Given the description of an element on the screen output the (x, y) to click on. 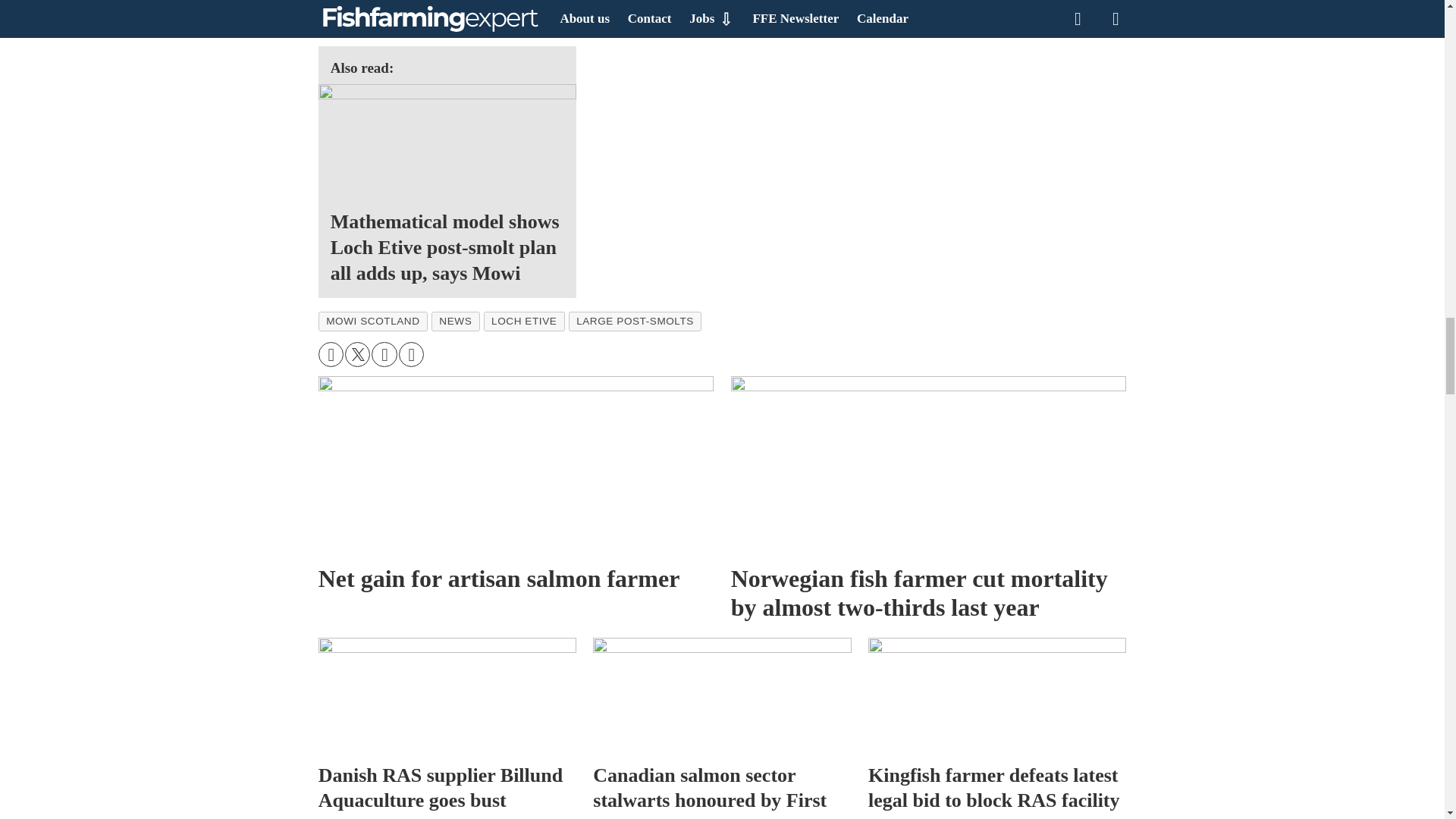
LOCH ETIVE (523, 321)
Canadian salmon sector stalwarts honoured by First Nation (721, 695)
NEWS (455, 321)
LARGE POST-SMOLTS (635, 321)
Net gain for artisan salmon farmer (516, 486)
MOWI SCOTLAND (373, 321)
Net gain for artisan salmon farmer (516, 465)
Danish RAS supplier Billund Aquaculture goes bust (447, 695)
